Given the description of an element on the screen output the (x, y) to click on. 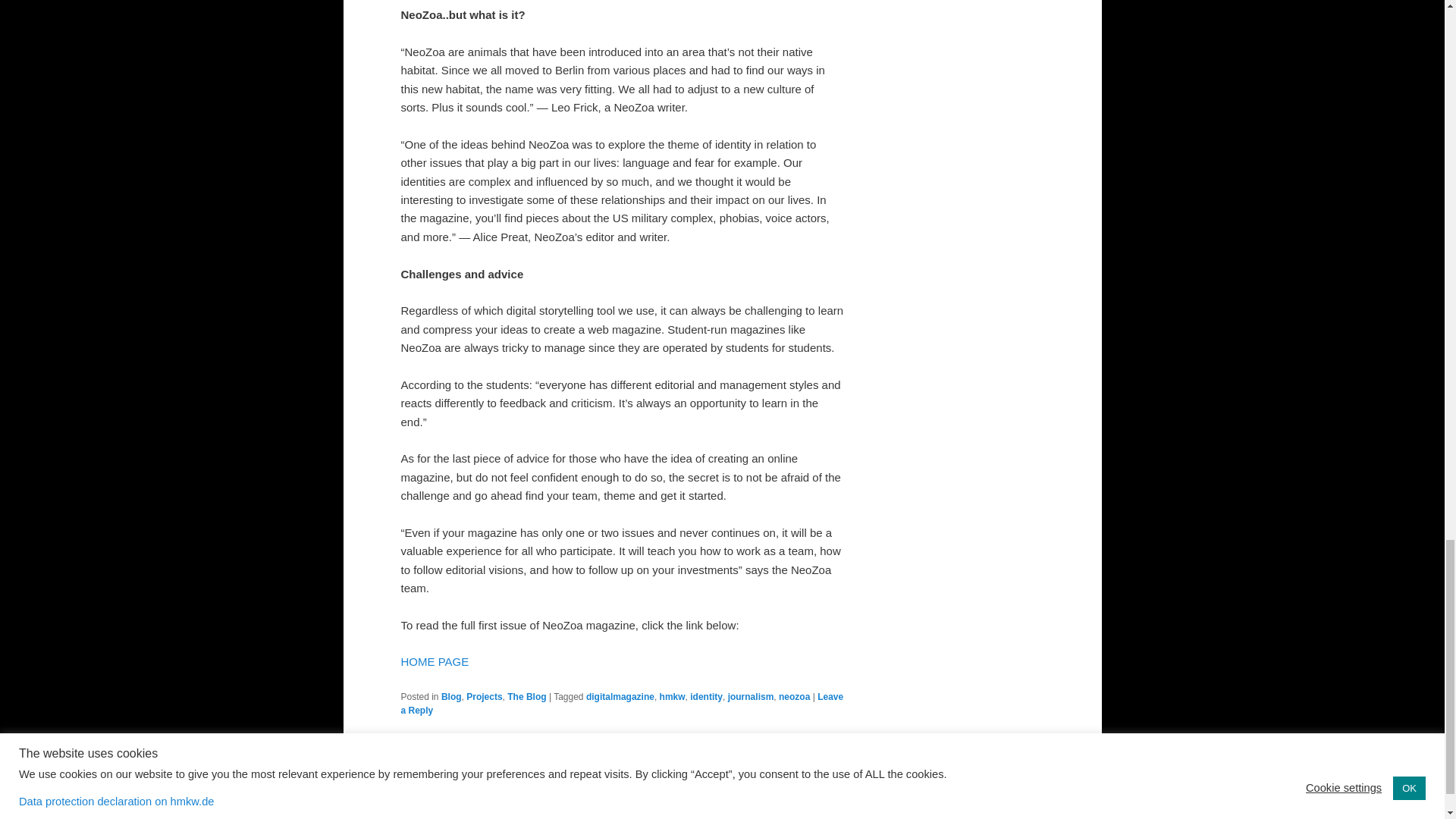
hmkw (672, 696)
Semantic Personal Publishing Platform (721, 784)
The Blog (526, 696)
digitalmagazine (619, 696)
journalism (751, 696)
Leave a Reply (621, 703)
neozoa (793, 696)
HOME PAGE (434, 661)
identity (706, 696)
Projects (483, 696)
Blog (451, 696)
